Given the description of an element on the screen output the (x, y) to click on. 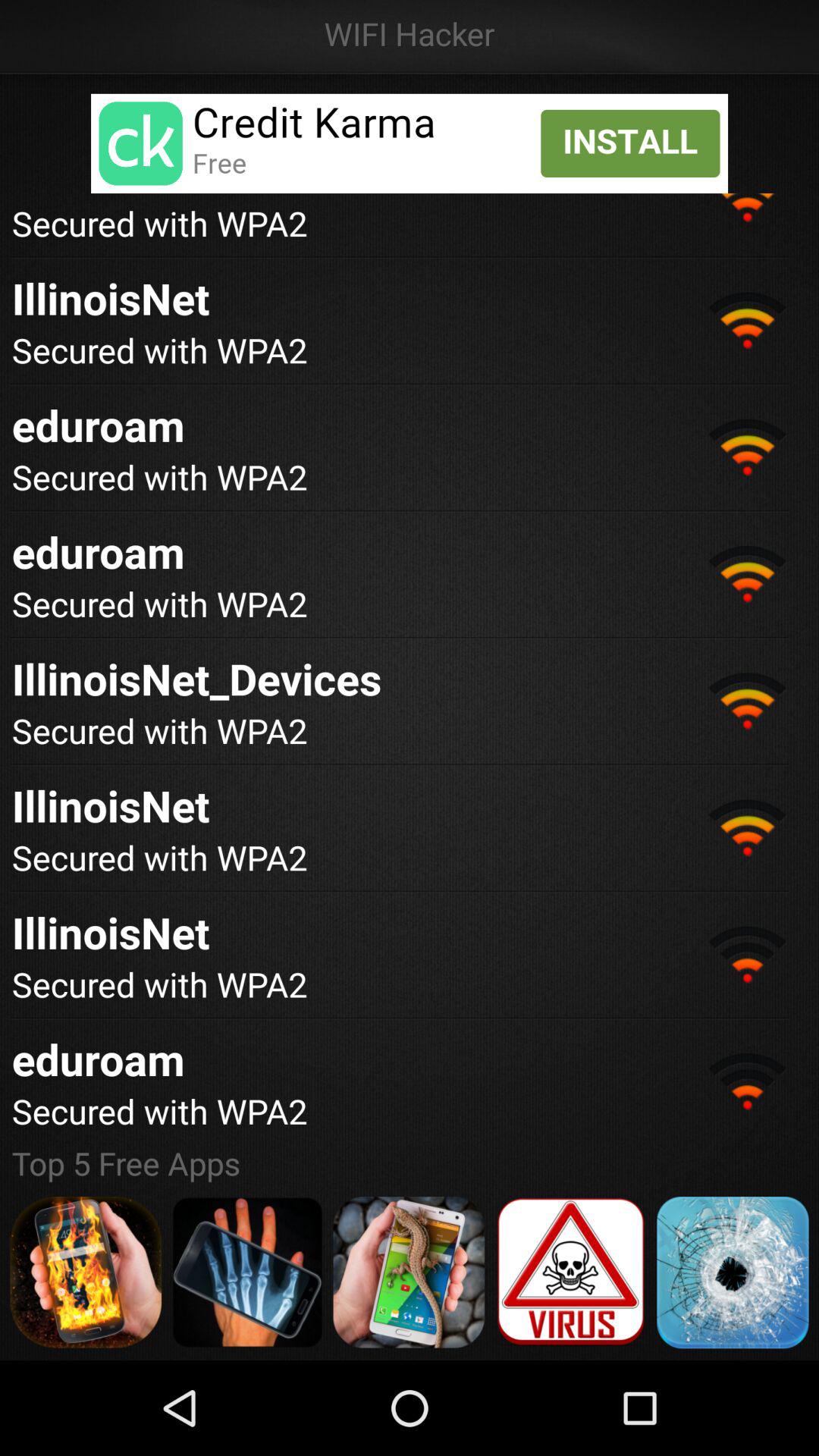
advertisement (732, 1272)
